Given the description of an element on the screen output the (x, y) to click on. 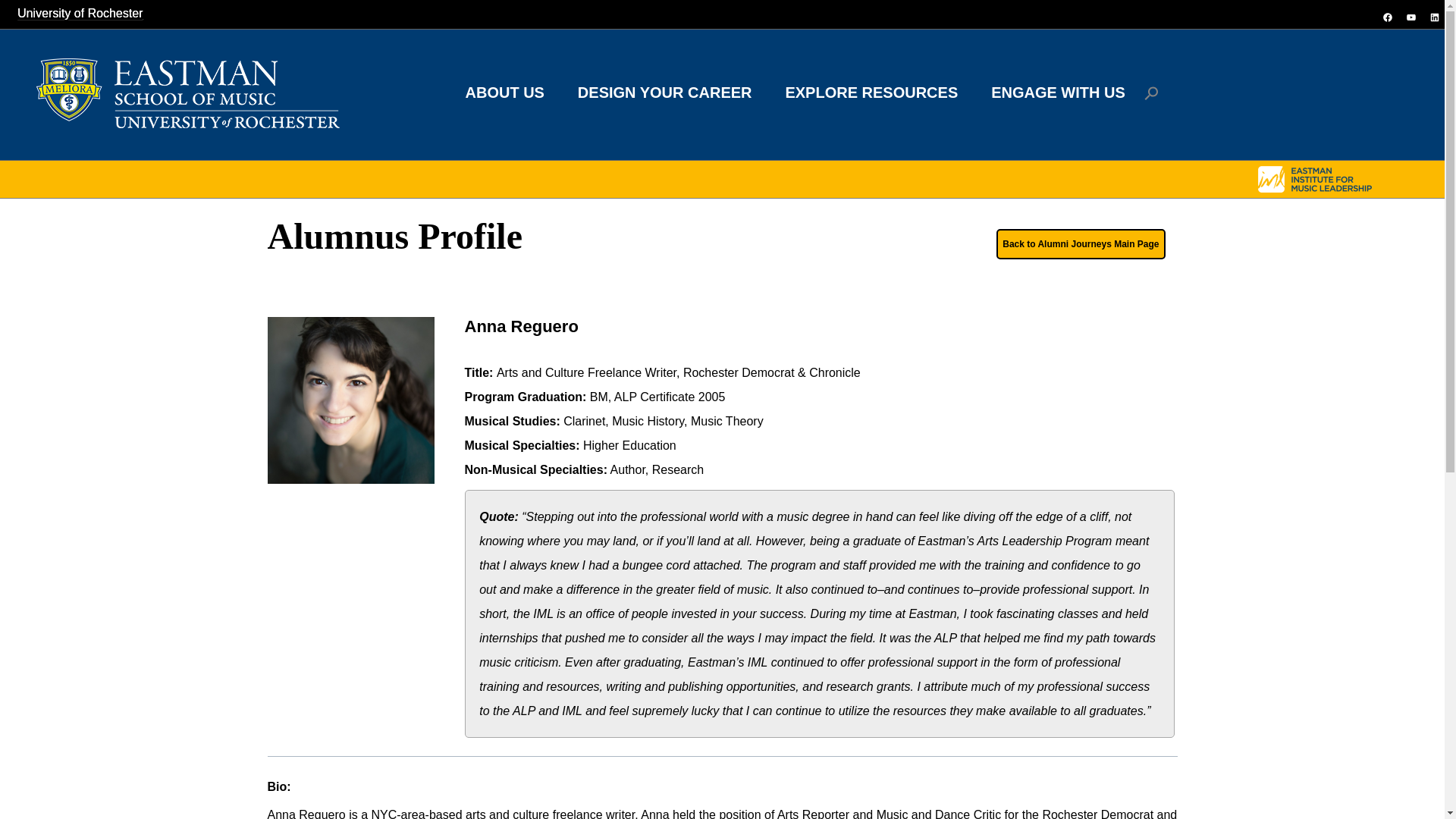
EXPLORE RESOURCES (871, 92)
DESIGN YOUR CAREER (664, 92)
Facebook (1386, 17)
ENGAGE WITH US (1057, 92)
ABOUT US (504, 92)
LinkedIn (1434, 17)
YouTube (1410, 17)
University of Rochester (79, 12)
